Given the description of an element on the screen output the (x, y) to click on. 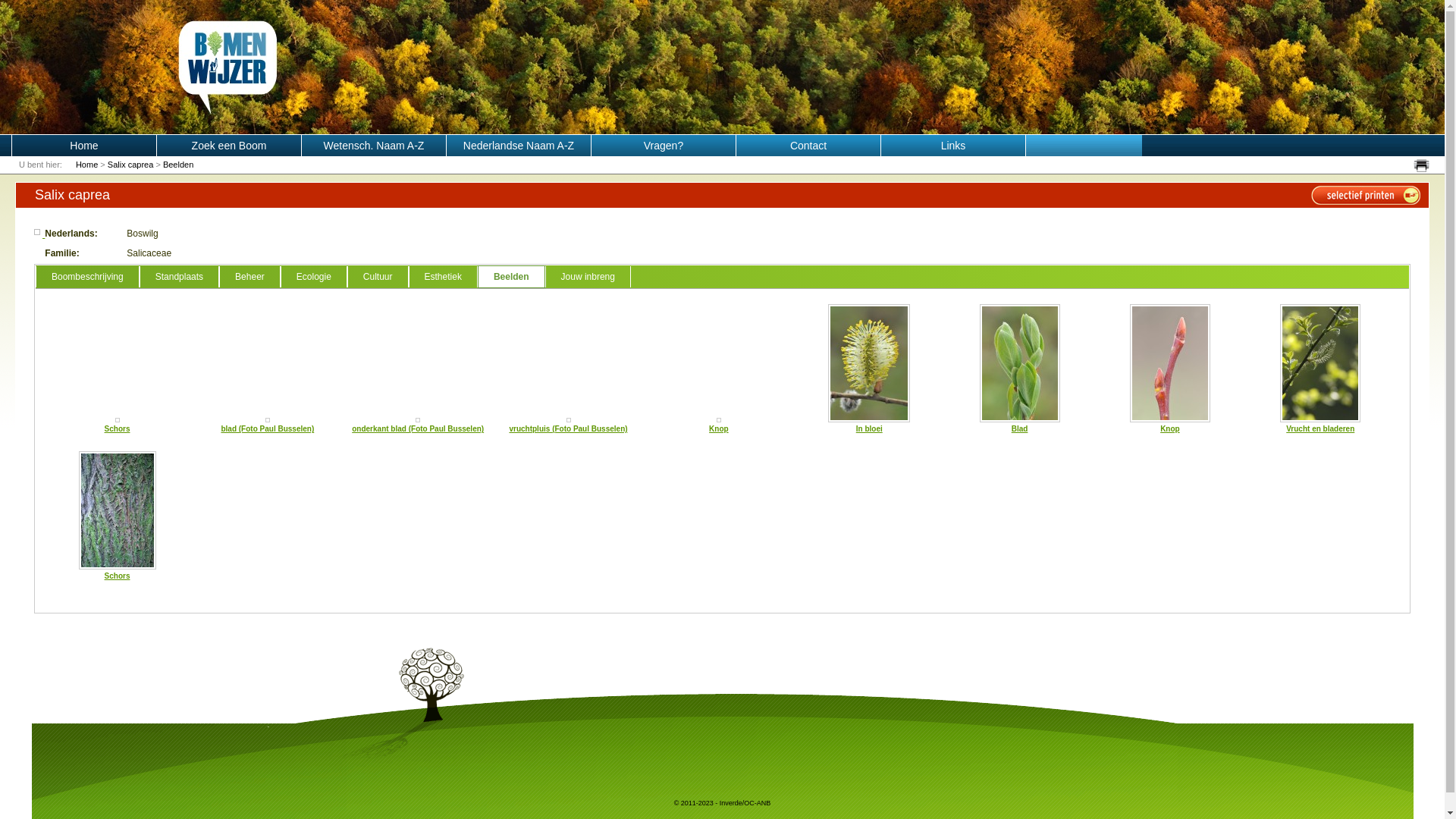
Blad Element type: hover (1019, 363)
Jouw inbreng Element type: text (588, 276)
blad (Foto Paul Busselen) Element type: text (266, 428)
Beelden Element type: text (511, 276)
Vrucht en bladeren Element type: text (1320, 428)
Ecologie Element type: text (313, 276)
Home Element type: text (83, 145)
Salix caprea Element type: text (130, 164)
Blad Element type: text (1019, 428)
vruchtpluis (Foto Paul Busselen) Element type: text (567, 428)
Cultuur Element type: text (377, 276)
In bloei Element type: hover (869, 363)
Boombeschrijving Element type: text (87, 276)
In bloei Element type: text (869, 428)
onderkant blad (Foto Paul Busselen) Element type: text (417, 428)
Esthetiek Element type: text (442, 276)
Nederlandse Naam A-Z Element type: text (518, 145)
Vrucht en bladeren Element type: hover (1320, 363)
Knop Element type: text (718, 428)
Fiche afdrukken Element type: hover (1365, 195)
Contact Element type: text (808, 145)
Standplaats Element type: text (179, 276)
Home Element type: text (86, 164)
Beheer Element type: text (249, 276)
Knop Element type: text (1169, 428)
Knop Element type: hover (718, 419)
blad (Foto Paul Busselen) Element type: hover (267, 419)
Vragen? Element type: text (663, 145)
Knop Element type: hover (1169, 363)
Zoek een Boom Element type: text (228, 145)
onderkant blad (Foto Paul Busselen) Element type: hover (417, 419)
Beelden Element type: text (178, 164)
Schors Element type: hover (117, 419)
Schors Element type: text (117, 428)
vruchtpluis (Foto Paul Busselen) Element type: hover (568, 419)
Links Element type: text (953, 145)
Schors Element type: hover (117, 510)
Inverde/OC-ANB Element type: text (745, 802)
Schors Element type: text (117, 575)
Fiche afdrukken Element type: hover (1421, 165)
Wetensch. Naam A-Z Element type: text (373, 145)
